Given the description of an element on the screen output the (x, y) to click on. 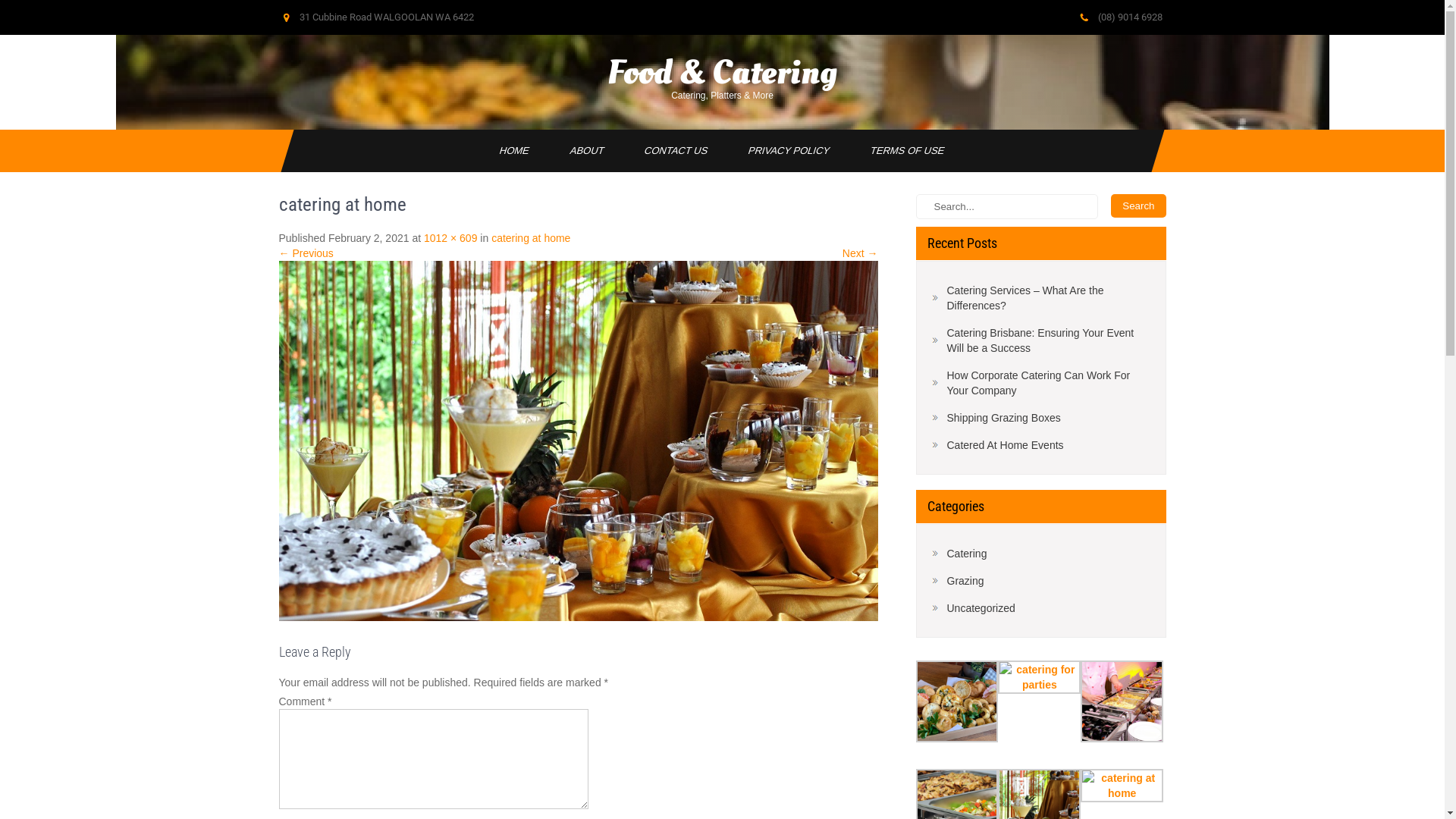
Catered At Home Events Element type: text (997, 444)
Shipping Grazing Boxes Element type: text (995, 417)
PRIVACY POLICY Element type: text (782, 150)
Food & Catering
Catering, Platters & More Element type: text (722, 82)
catering at home Element type: text (530, 238)
Search Element type: text (1137, 205)
HOME Element type: text (508, 150)
CONTACT US Element type: text (669, 150)
TERMS OF USE Element type: text (901, 150)
Catering Element type: text (958, 553)
Uncategorized Element type: text (972, 607)
ABOUT Element type: text (580, 150)
How Corporate Catering Can Work For Your Company Element type: text (1040, 382)
Grazing Element type: text (957, 580)
Catering Brisbane: Ensuring Your Event Will be a Success Element type: text (1040, 340)
